Given the description of an element on the screen output the (x, y) to click on. 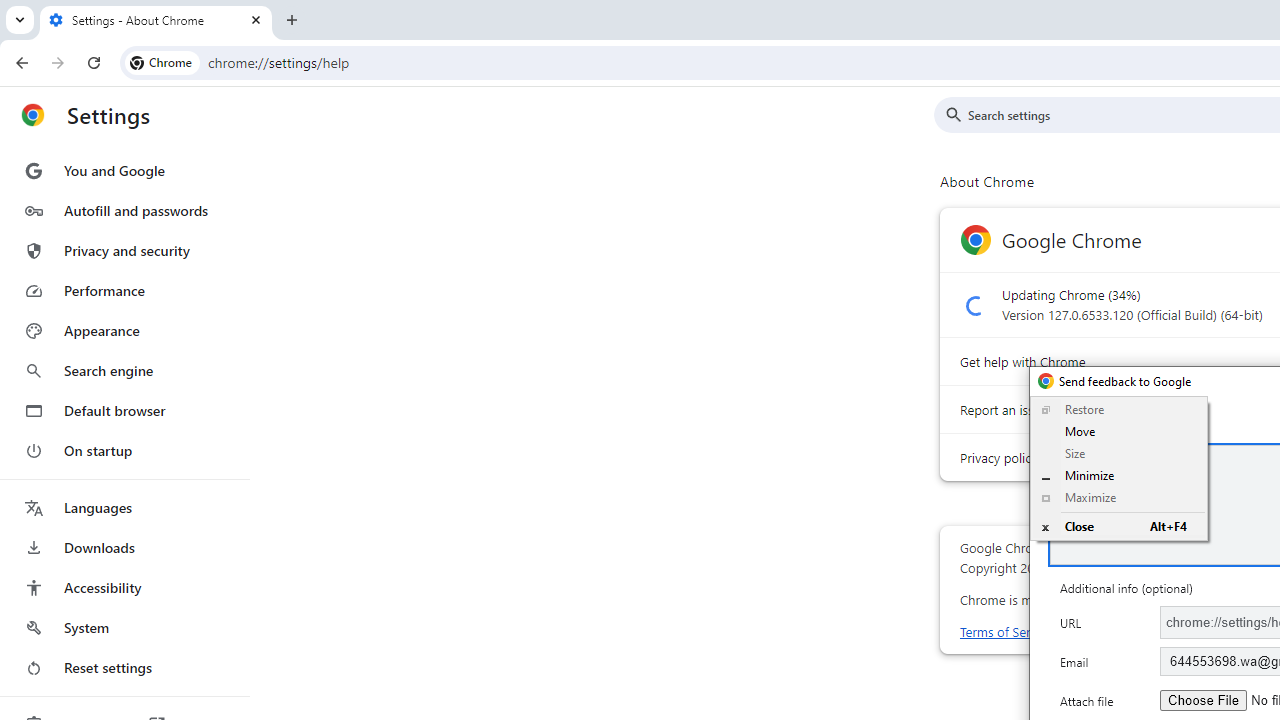
Default browser (124, 410)
Accessibility (124, 587)
Performance (124, 290)
Size (1118, 453)
Reset settings (124, 668)
Maximize (1118, 497)
Search engine (124, 370)
On startup (124, 450)
